Given the description of an element on the screen output the (x, y) to click on. 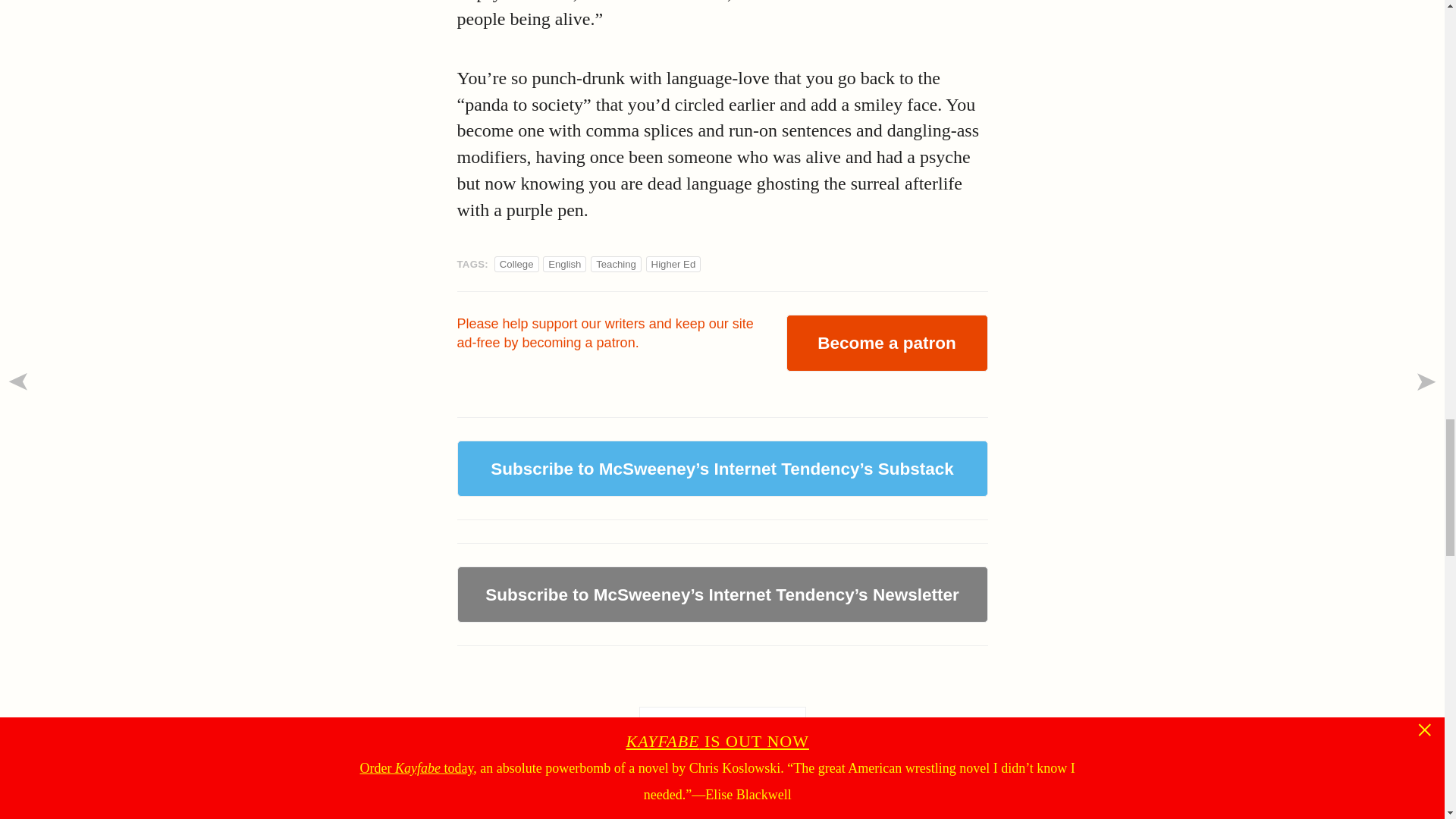
College (516, 264)
Become a patron (886, 342)
Higher Ed (610, 794)
English (672, 264)
Teaching (564, 264)
